Given the description of an element on the screen output the (x, y) to click on. 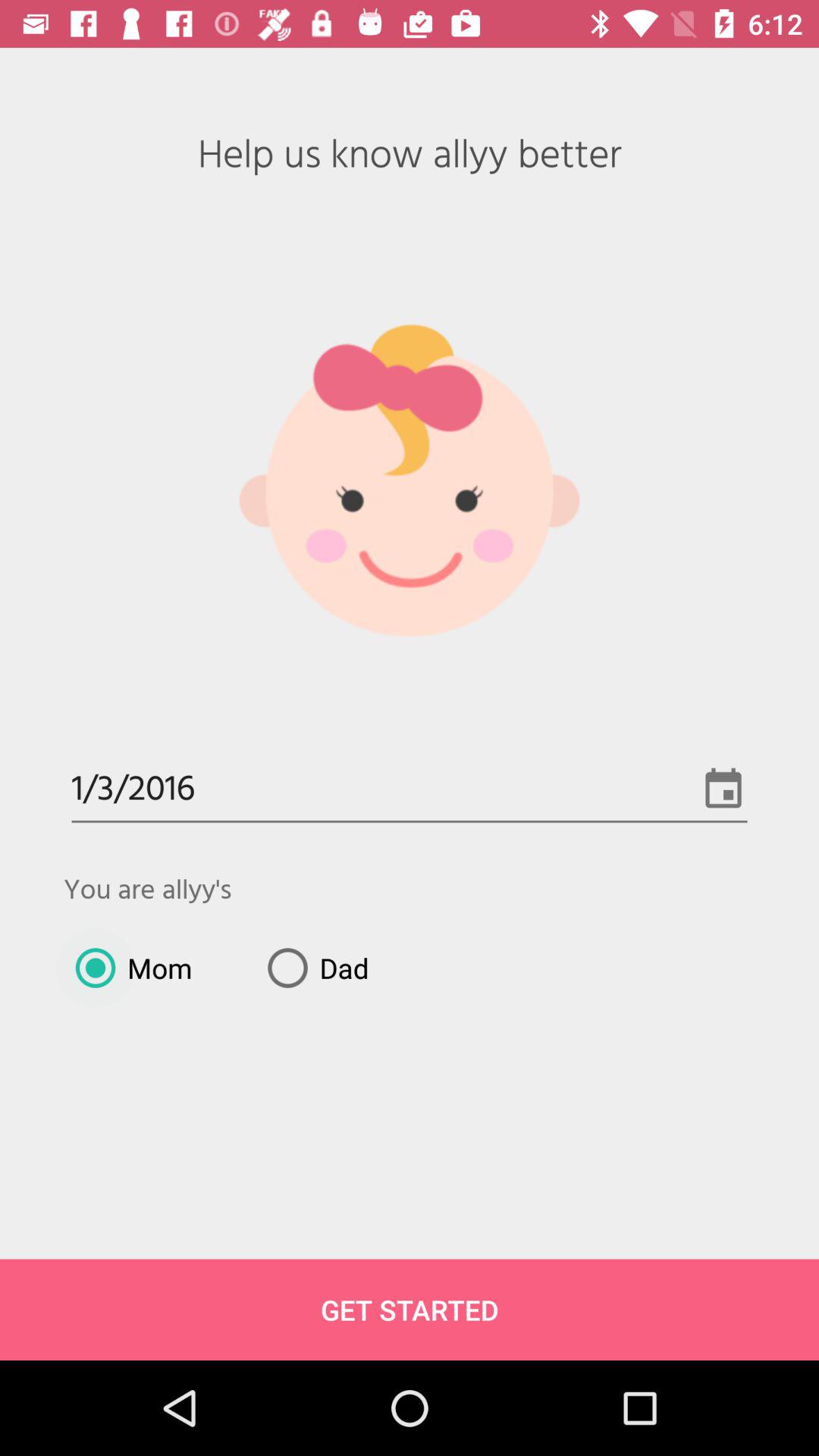
launch the 1/3/2016 item (409, 790)
